Given the description of an element on the screen output the (x, y) to click on. 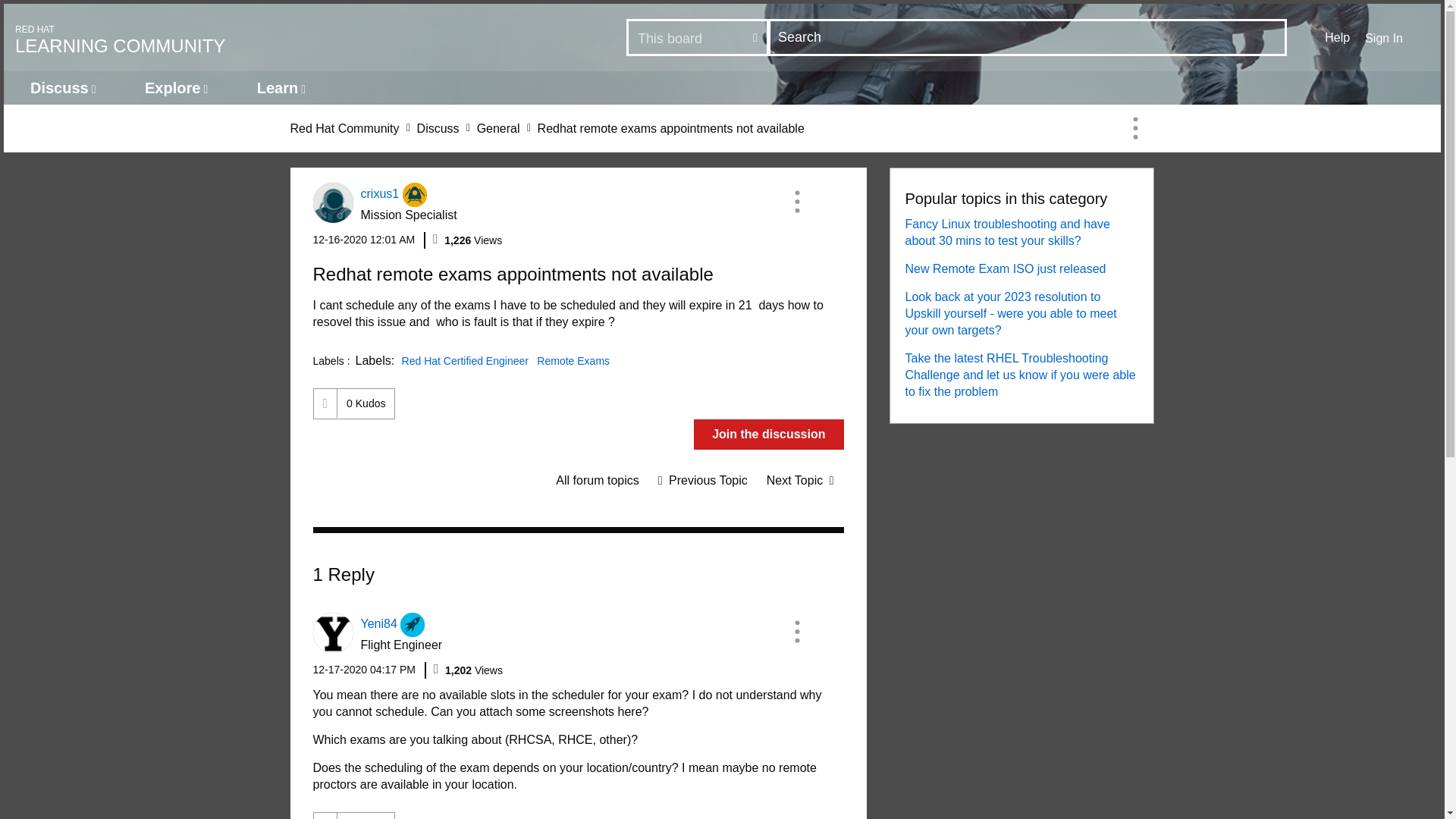
Help (1336, 36)
Mission Specialist (414, 194)
General (498, 128)
Discuss (63, 87)
crixus1 (332, 202)
Learn (281, 87)
Red Hat Community (343, 128)
Show option menu (796, 201)
Search Granularity (697, 37)
Explore (176, 87)
Search (269, 37)
The total number of kudos this post has received. (1027, 37)
Posted on (365, 403)
Search (363, 239)
